Given the description of an element on the screen output the (x, y) to click on. 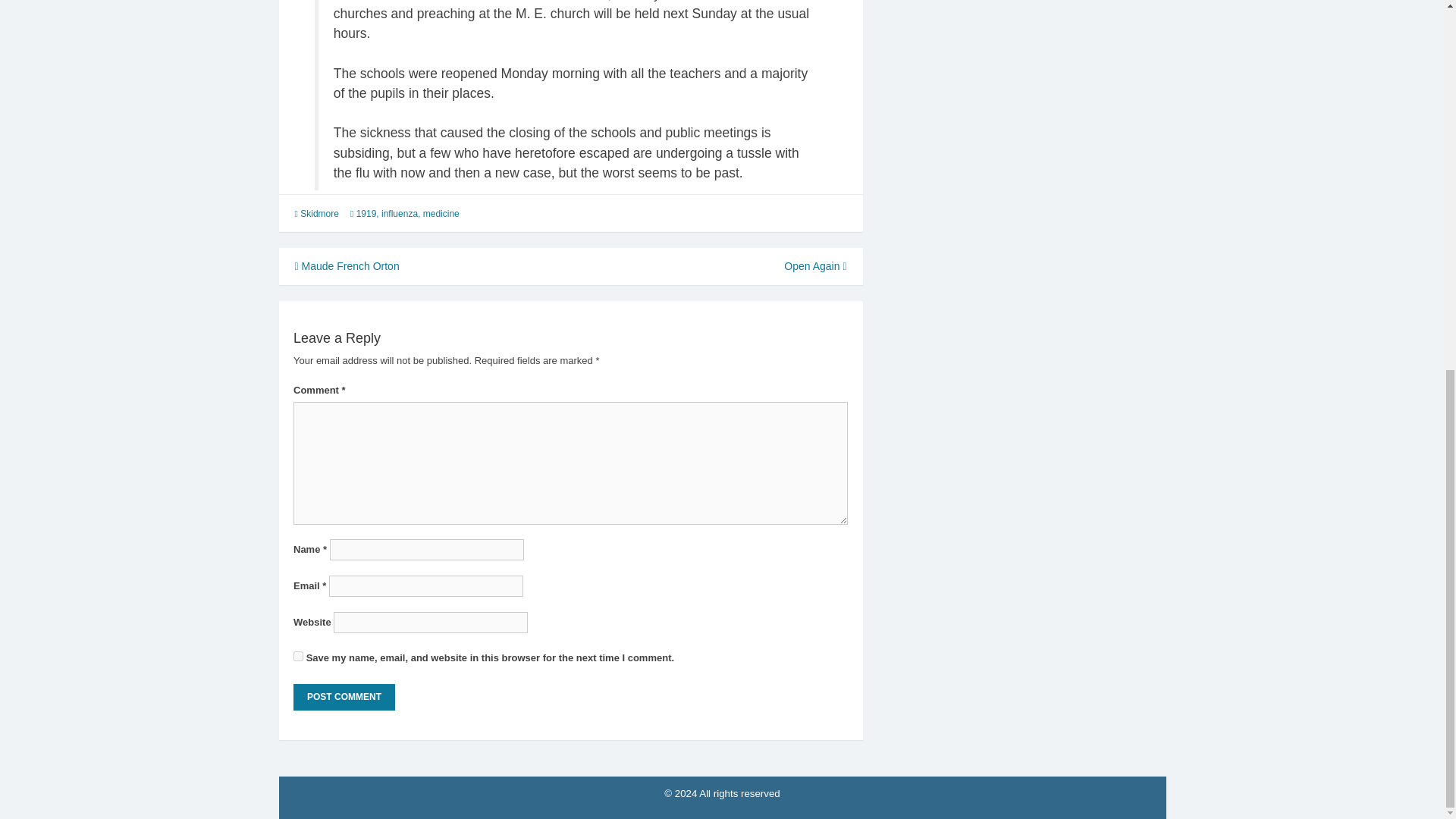
Maude French Orton (346, 265)
Skidmore (319, 213)
influenza (399, 213)
Post Comment (344, 696)
medicine (441, 213)
1919 (366, 213)
Open Again (814, 265)
Post Comment (344, 696)
yes (298, 655)
